Given the description of an element on the screen output the (x, y) to click on. 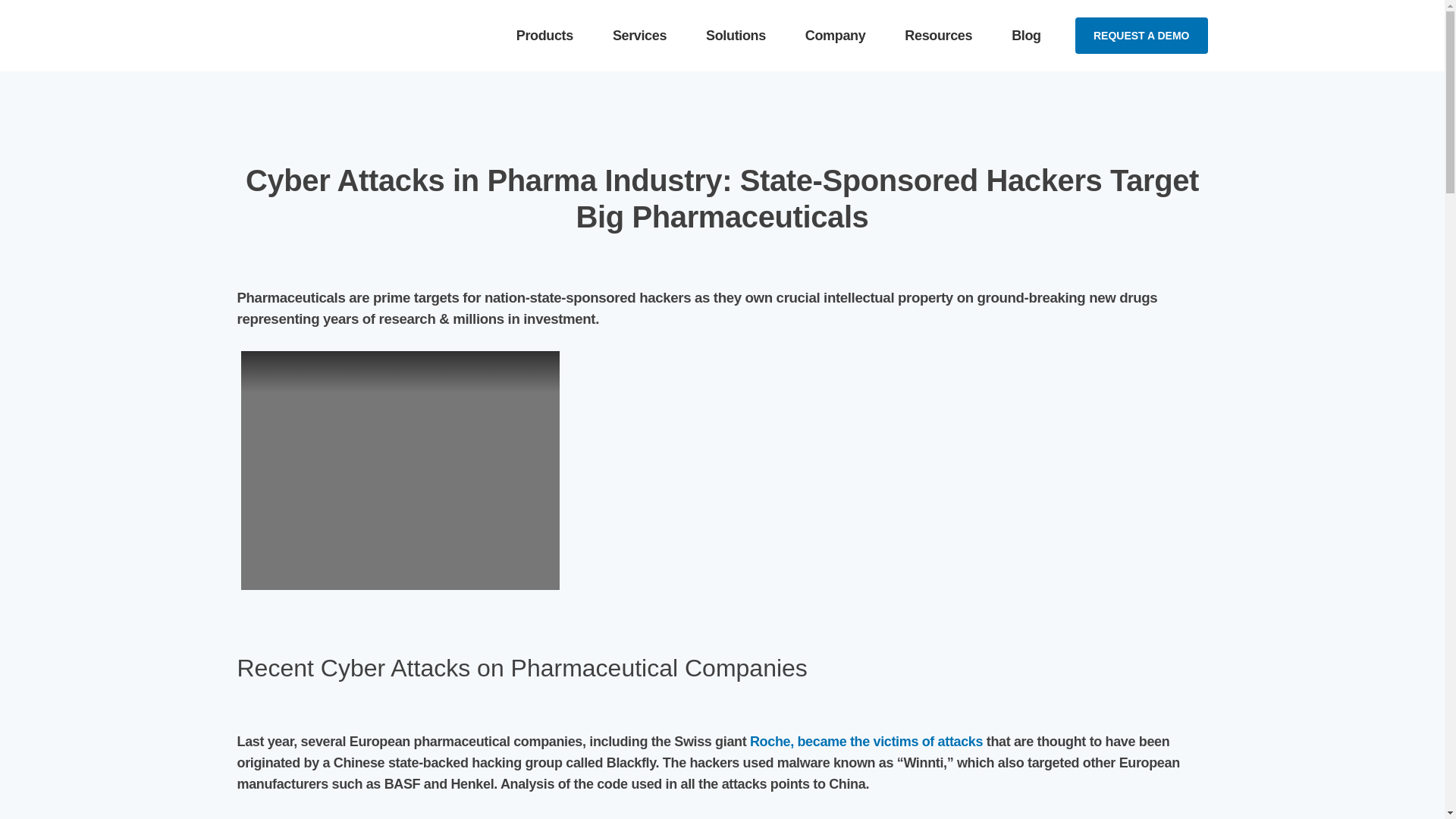
Resources (938, 35)
Company (835, 35)
Solutions (735, 35)
REQUEST A DEMO (1141, 35)
Services (639, 35)
Products (544, 35)
Blog (1026, 35)
Roche, became the victims of attacks (865, 741)
